Given the description of an element on the screen output the (x, y) to click on. 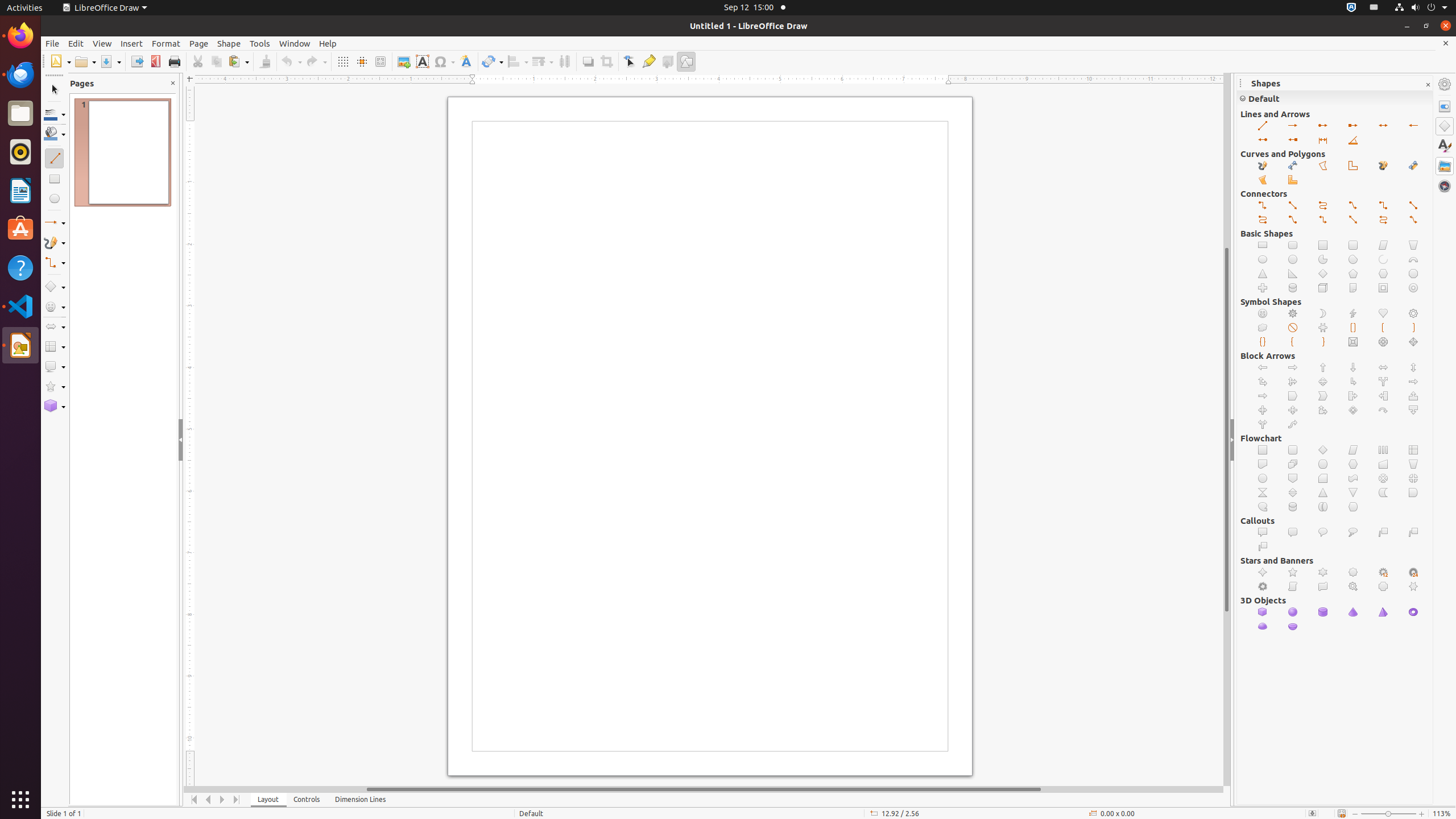
Select Element type: push-button (53, 89)
Move To Home Element type: push-button (194, 799)
Copy Element type: push-button (216, 61)
Sphere Element type: list-item (1292, 612)
Flowchart: Card Element type: list-item (1323, 478)
